Given the description of an element on the screen output the (x, y) to click on. 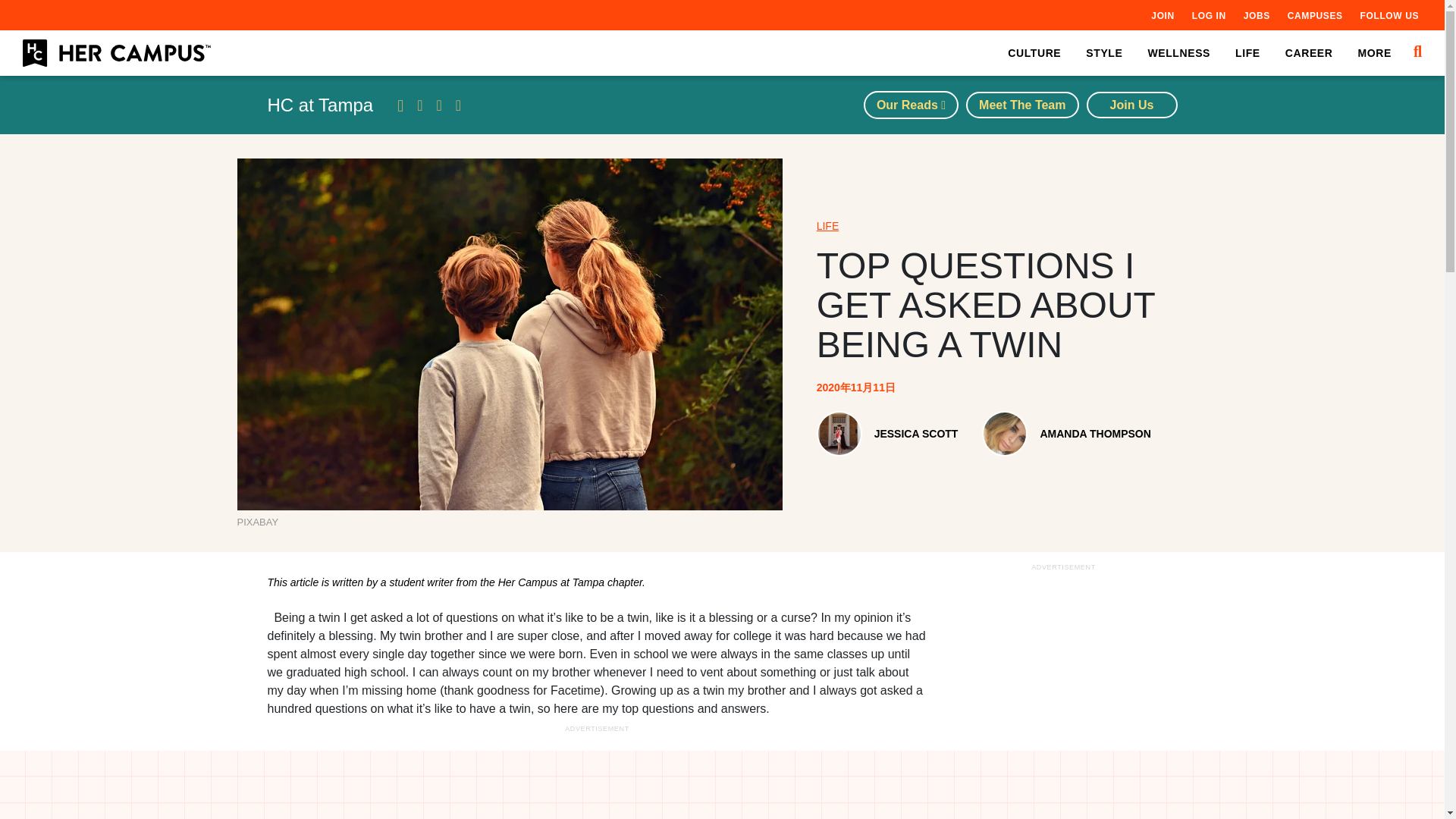
JOBS (1256, 15)
JOIN (1162, 15)
LOG IN (1208, 15)
CAMPUSES (1314, 15)
